Given the description of an element on the screen output the (x, y) to click on. 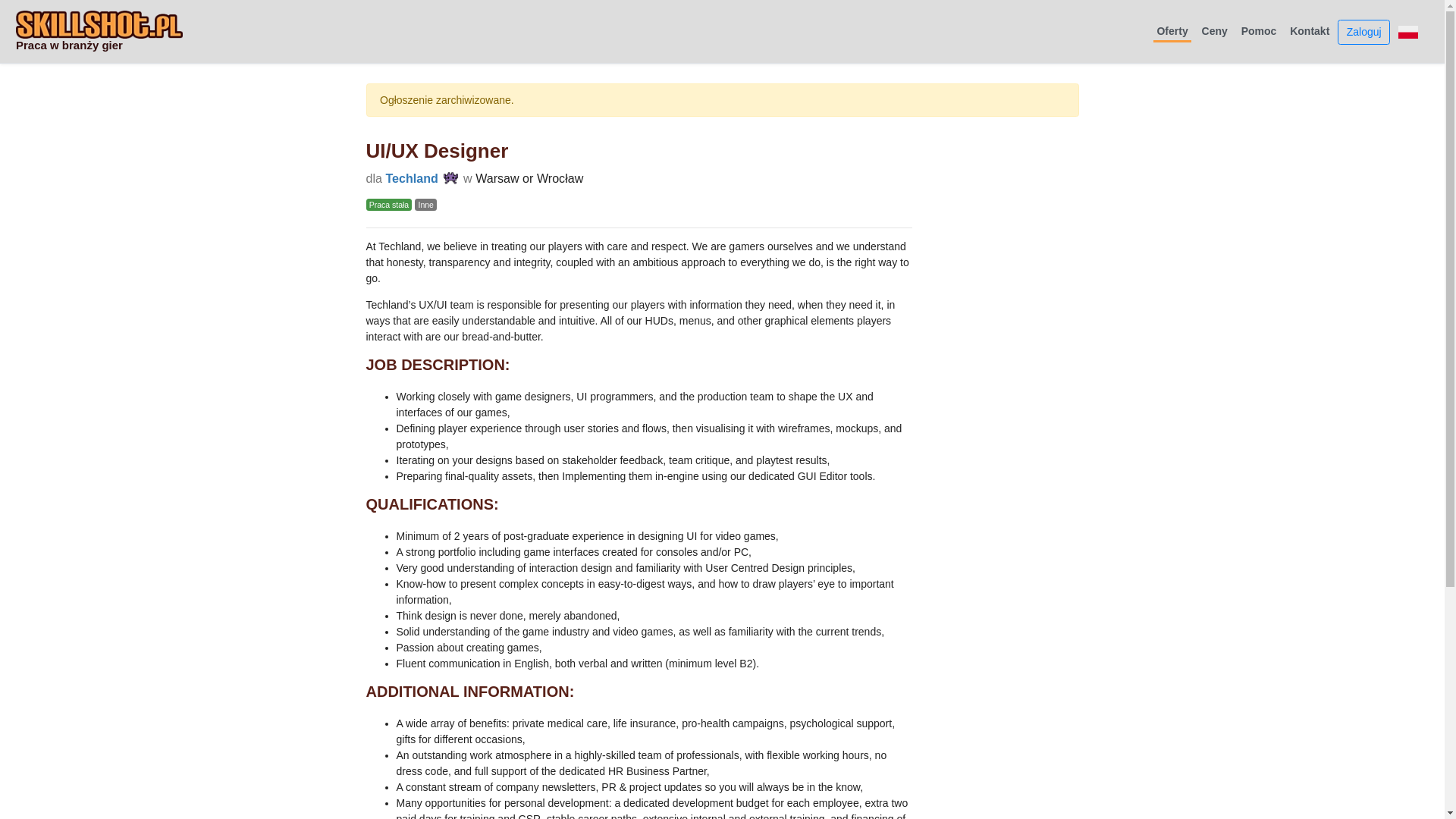
Kontakt (1310, 31)
Oferty (1172, 32)
Pomoc (1258, 31)
Zaloguj (1364, 32)
Ceny (1214, 31)
Techland (411, 178)
